Given the description of an element on the screen output the (x, y) to click on. 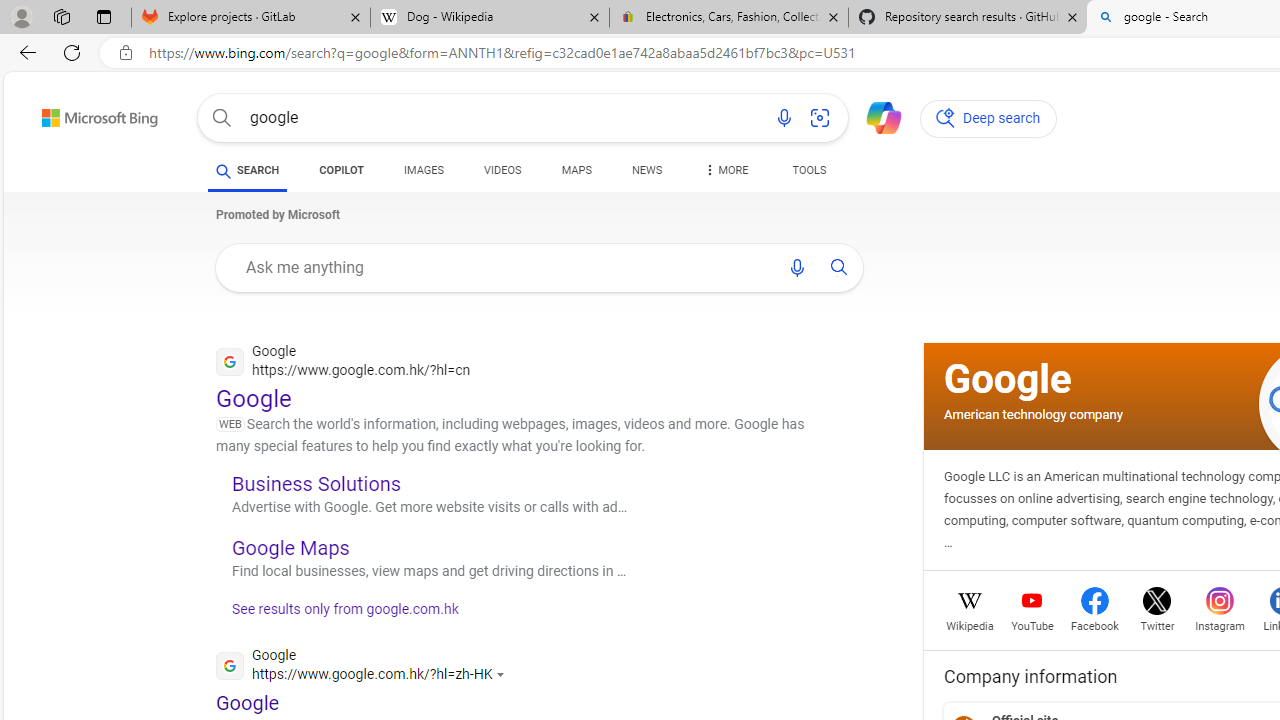
Search using voice (797, 267)
Global web icon (229, 664)
Actions for this site (503, 673)
VIDEOS (502, 170)
Electronics, Cars, Fashion, Collectibles & More | eBay (729, 17)
Ask me anything (502, 267)
Back to Bing search (87, 113)
NEWS (646, 170)
IMAGES (424, 173)
Business Solutions (316, 483)
COPILOT (341, 173)
